Given the description of an element on the screen output the (x, y) to click on. 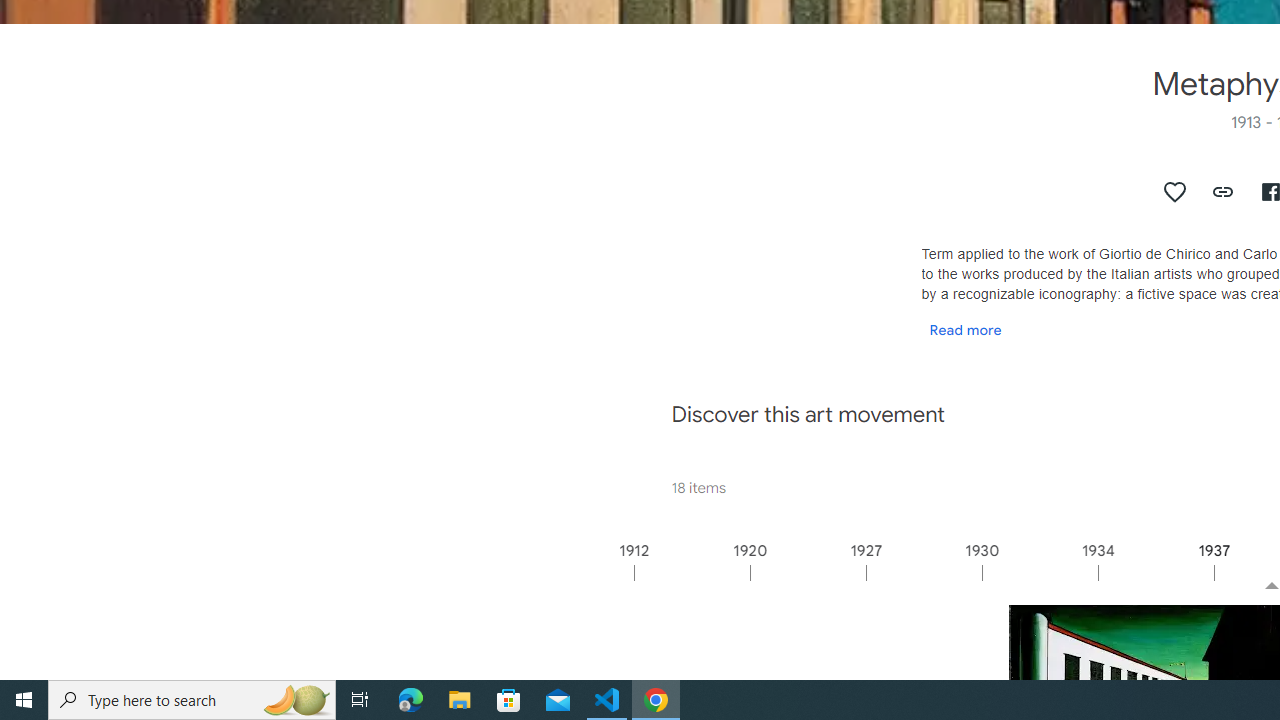
Read more (965, 329)
Copy Link (1223, 191)
1927 (923, 572)
1934 (1154, 572)
Authenticate to favorite this asset. (1175, 191)
1920 (807, 572)
1930 (1039, 572)
1912 (691, 572)
